Given the description of an element on the screen output the (x, y) to click on. 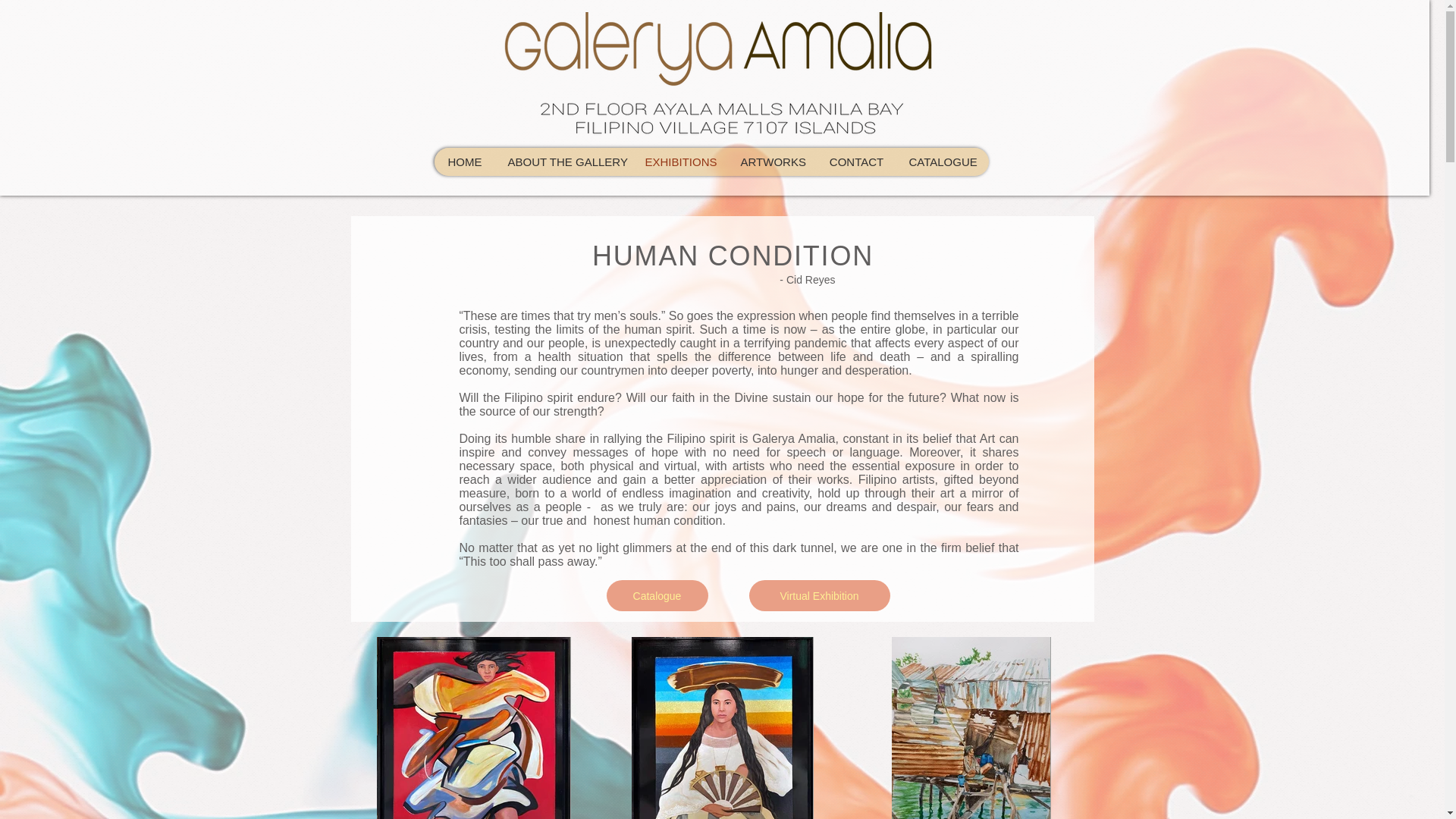
Virtual Exhibition (819, 594)
ARTWORKS (771, 162)
HOME (464, 162)
CONTACT (855, 162)
CATALOGUE (942, 162)
ABOUT THE GALLERY (564, 162)
Catalogue (657, 594)
EXHIBITIONS (679, 162)
